Given the description of an element on the screen output the (x, y) to click on. 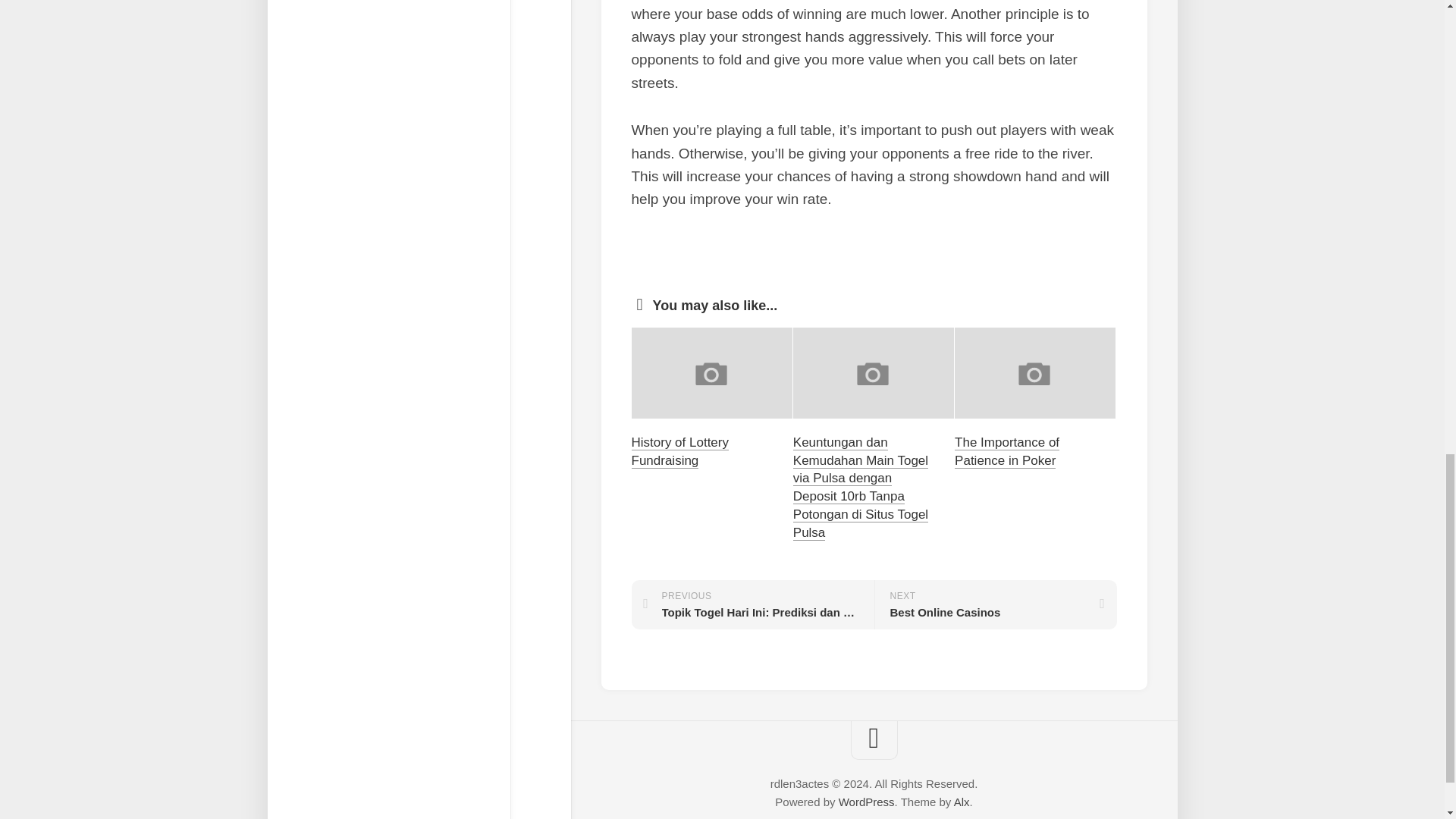
History of Lottery Fundraising (679, 450)
The Importance of Patience in Poker (1007, 450)
WordPress (994, 604)
Alx (866, 801)
